Given the description of an element on the screen output the (x, y) to click on. 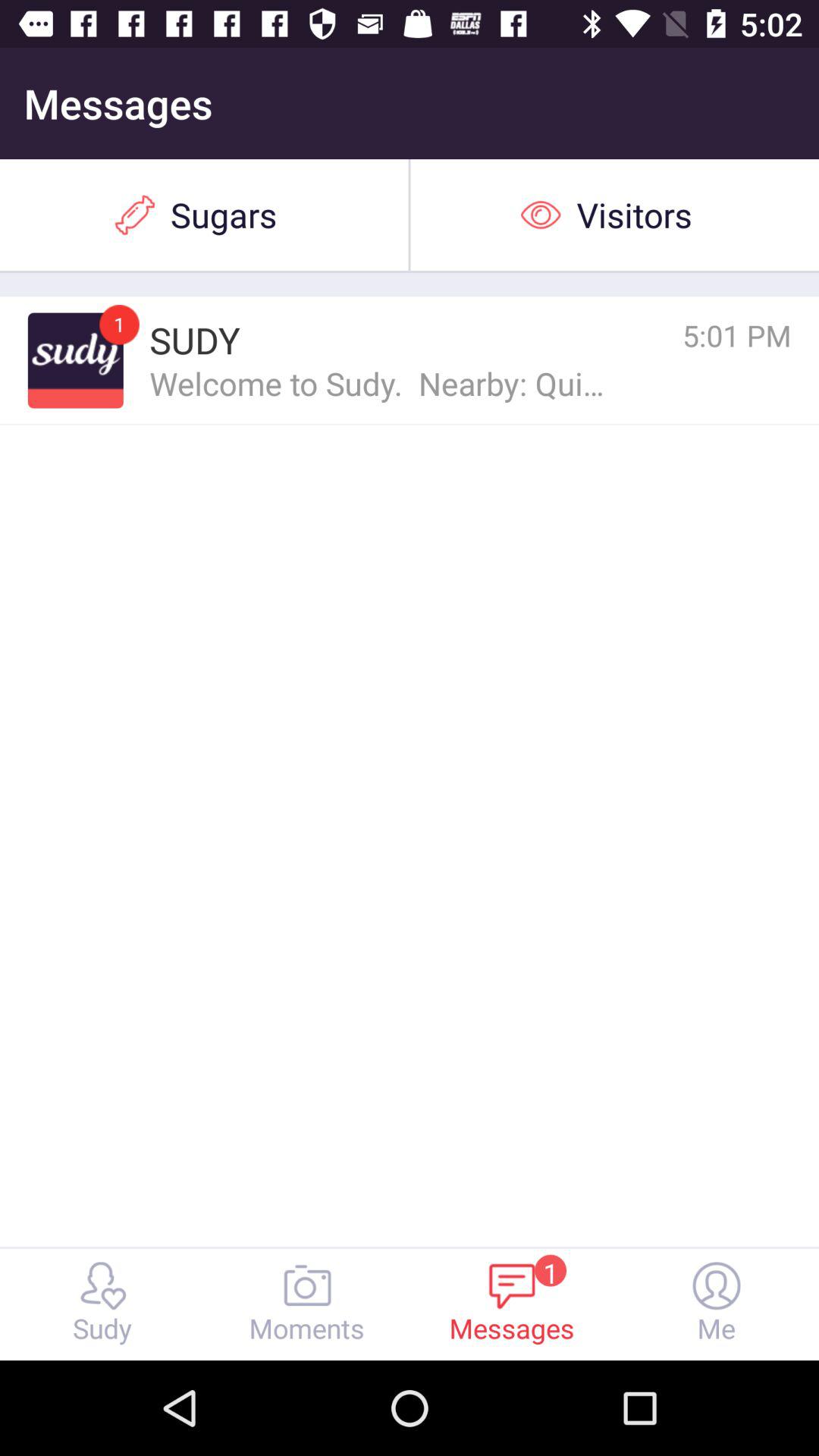
select icon next to the sudy (119, 324)
